Given the description of an element on the screen output the (x, y) to click on. 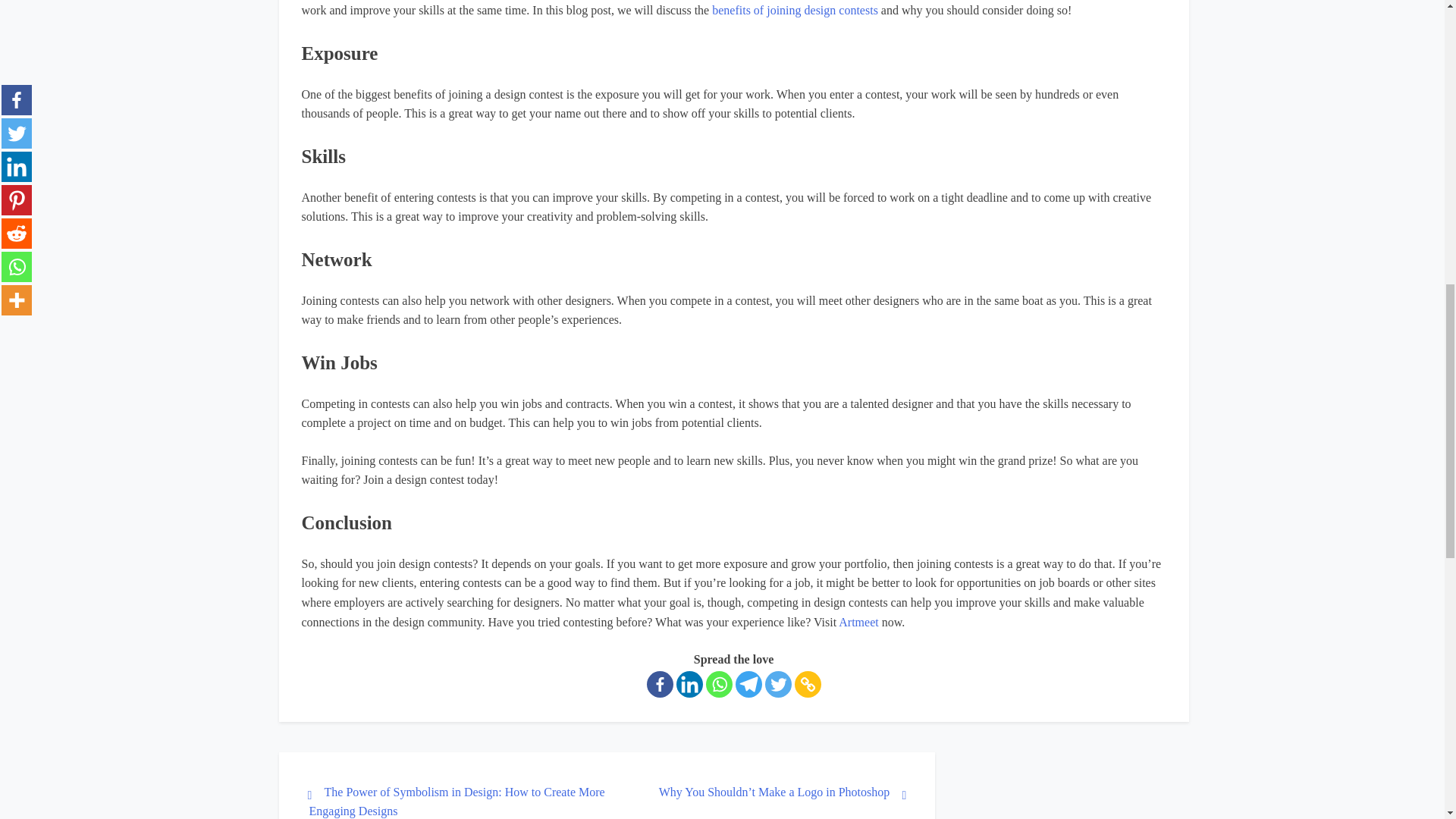
Telegram (748, 683)
Artmeet (859, 621)
Twitter (777, 683)
Copy Link (807, 683)
benefits of joining design contests (794, 10)
Facebook (659, 683)
Linkedin (690, 683)
benefits of joining design contests (794, 10)
Whatsapp (718, 683)
